Given the description of an element on the screen output the (x, y) to click on. 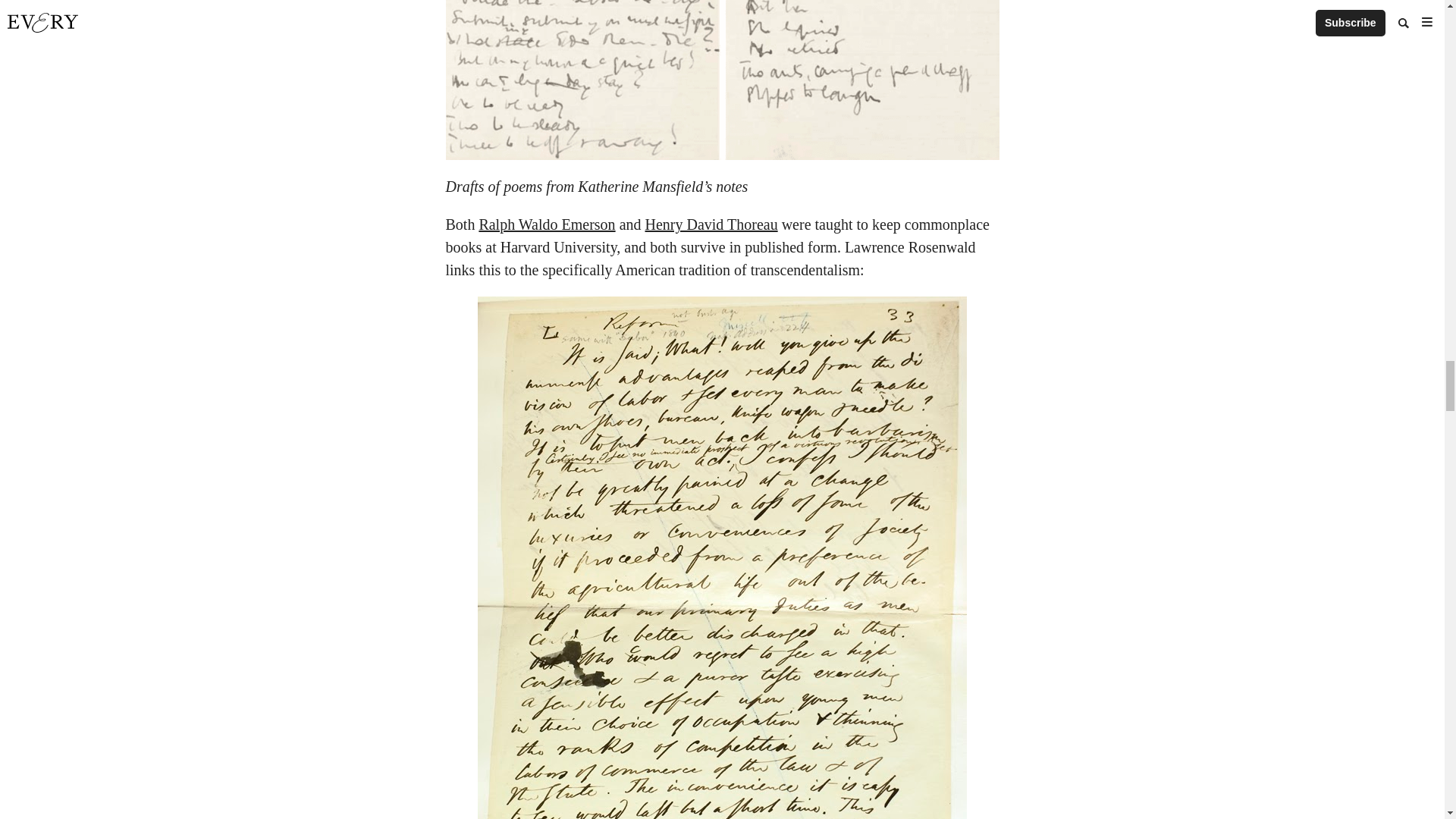
Henry David Thoreau (711, 224)
Ralph Waldo Emerson (546, 224)
